Given the description of an element on the screen output the (x, y) to click on. 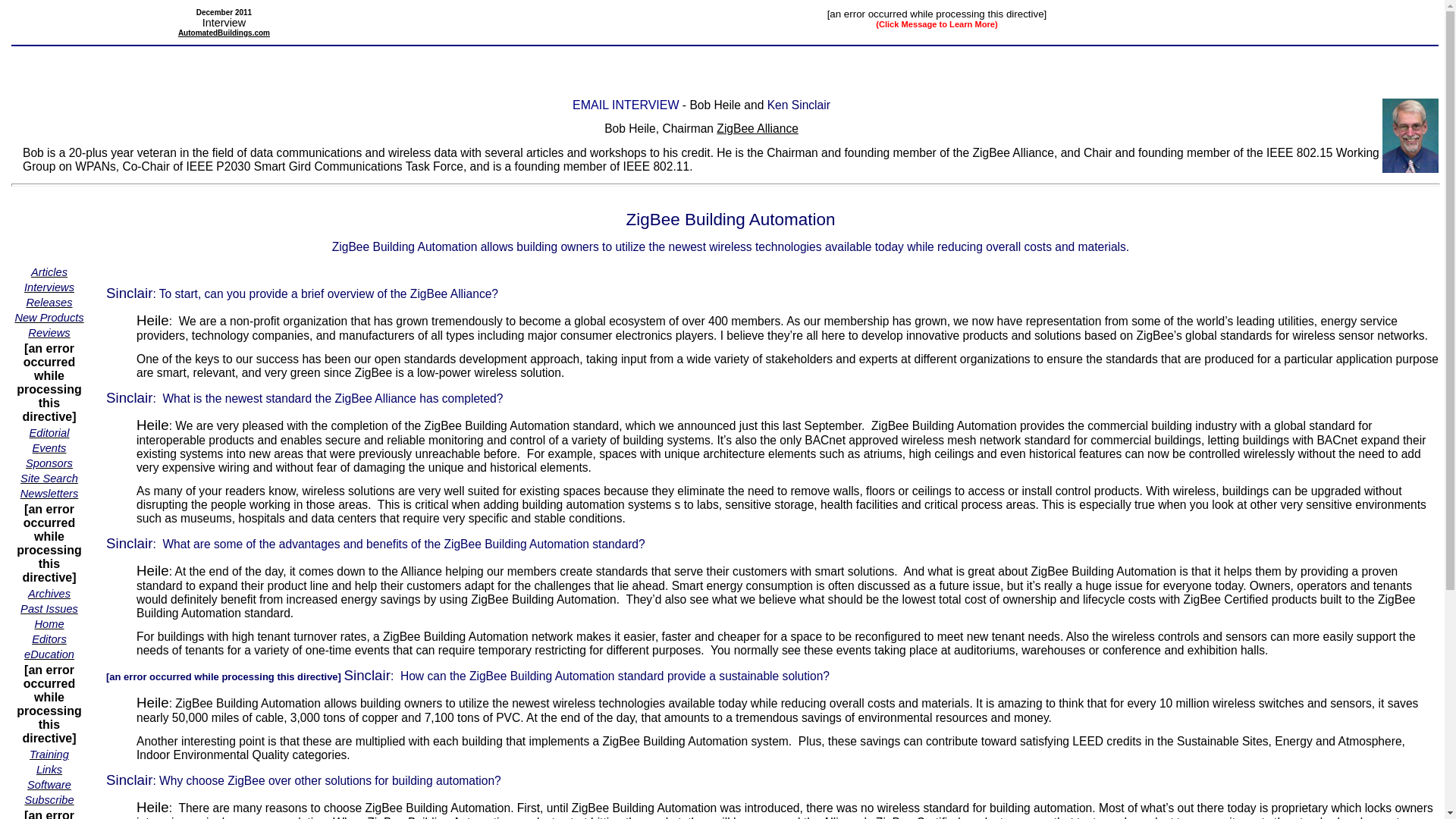
Editorial (49, 431)
Events (49, 447)
Training (48, 753)
ZigBee Alliance (756, 128)
Past Issues (49, 608)
AutomatedBuildings.com (223, 32)
Articles (48, 271)
Reviews (48, 332)
Editors (49, 638)
Home (48, 623)
